Given the description of an element on the screen output the (x, y) to click on. 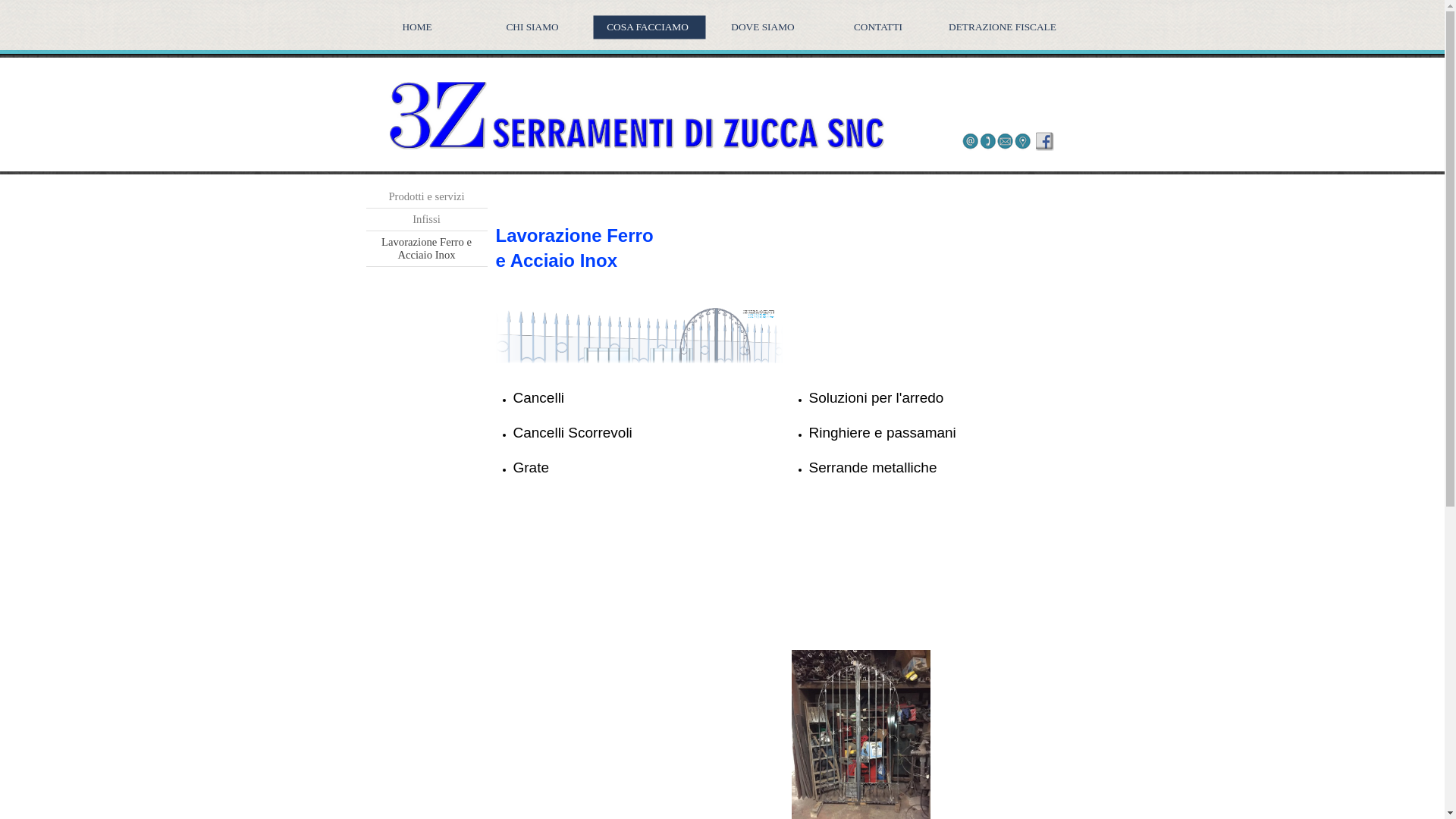
HOME Element type: text (419, 27)
CHI SIAMO Element type: text (534, 27)
Lavorazione Ferro e Acciaio Inox Element type: text (425, 248)
Prodotti e servizi Element type: text (425, 196)
CONTATTI Element type: text (880, 27)
DETRAZIONE FISCALE Element type: text (1004, 27)
DOVE SIAMO Element type: text (765, 27)
Infissi Element type: text (425, 219)
